Given the description of an element on the screen output the (x, y) to click on. 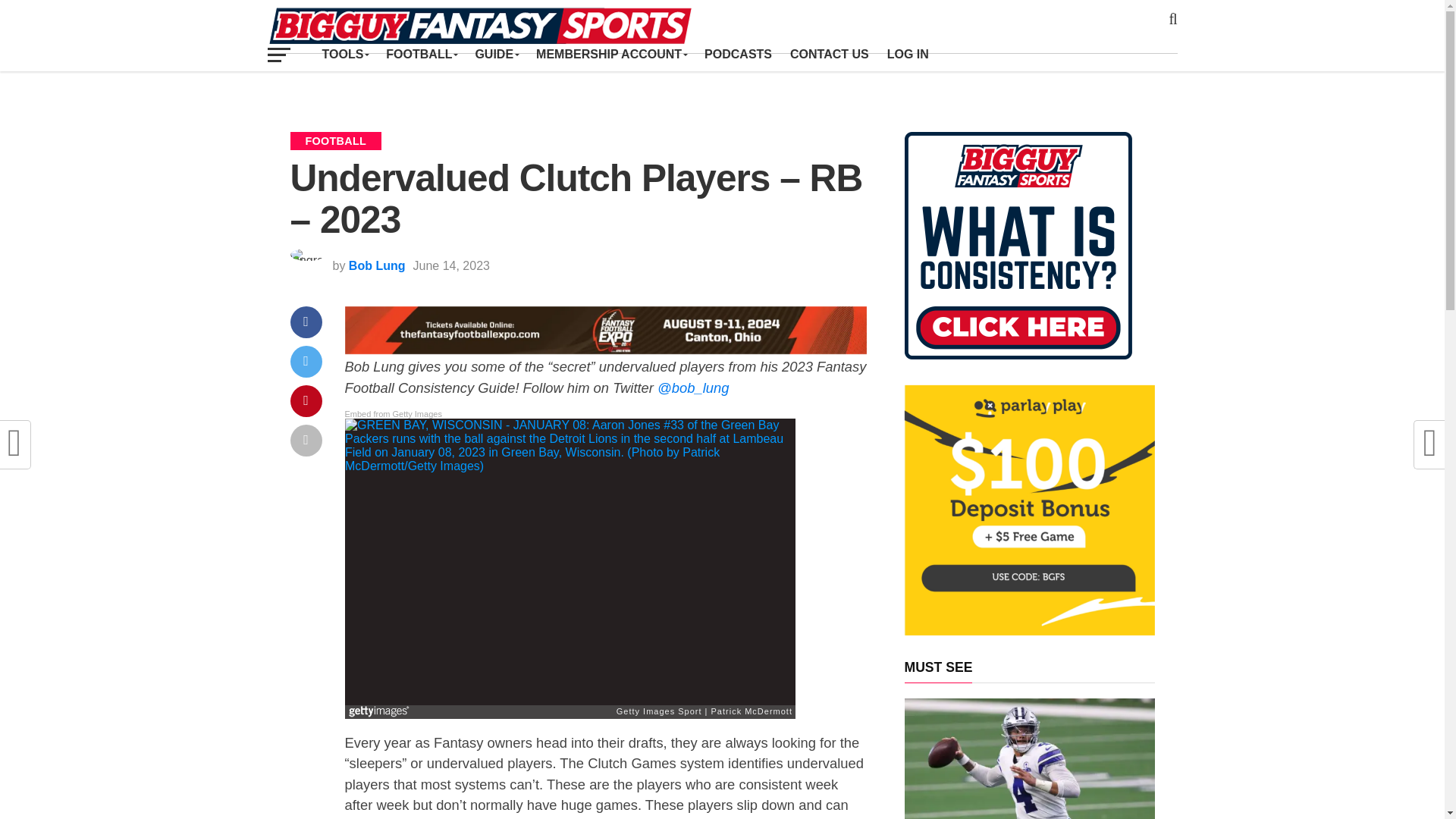
TOOLS (345, 54)
Posts by Bob Lung (377, 265)
PODCASTS (737, 54)
FOOTBALL (421, 54)
MEMBERSHIP ACCOUNT (611, 54)
CONTACT US (828, 54)
GUIDE (496, 54)
